Given the description of an element on the screen output the (x, y) to click on. 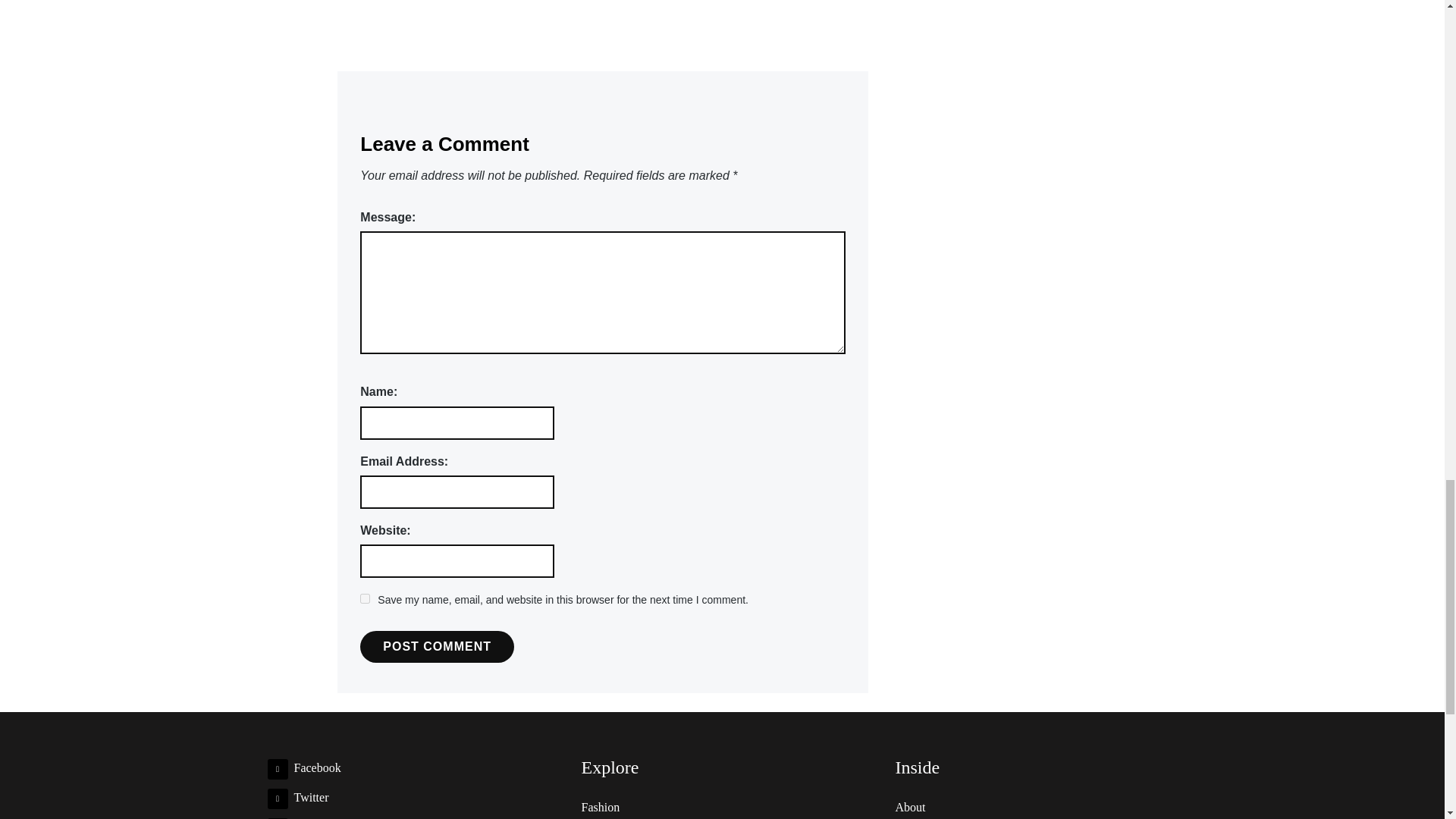
yes (364, 598)
Post Comment (436, 646)
Tweet this on Twitter (656, 0)
Twitter (297, 797)
Facebook (303, 767)
